Given the description of an element on the screen output the (x, y) to click on. 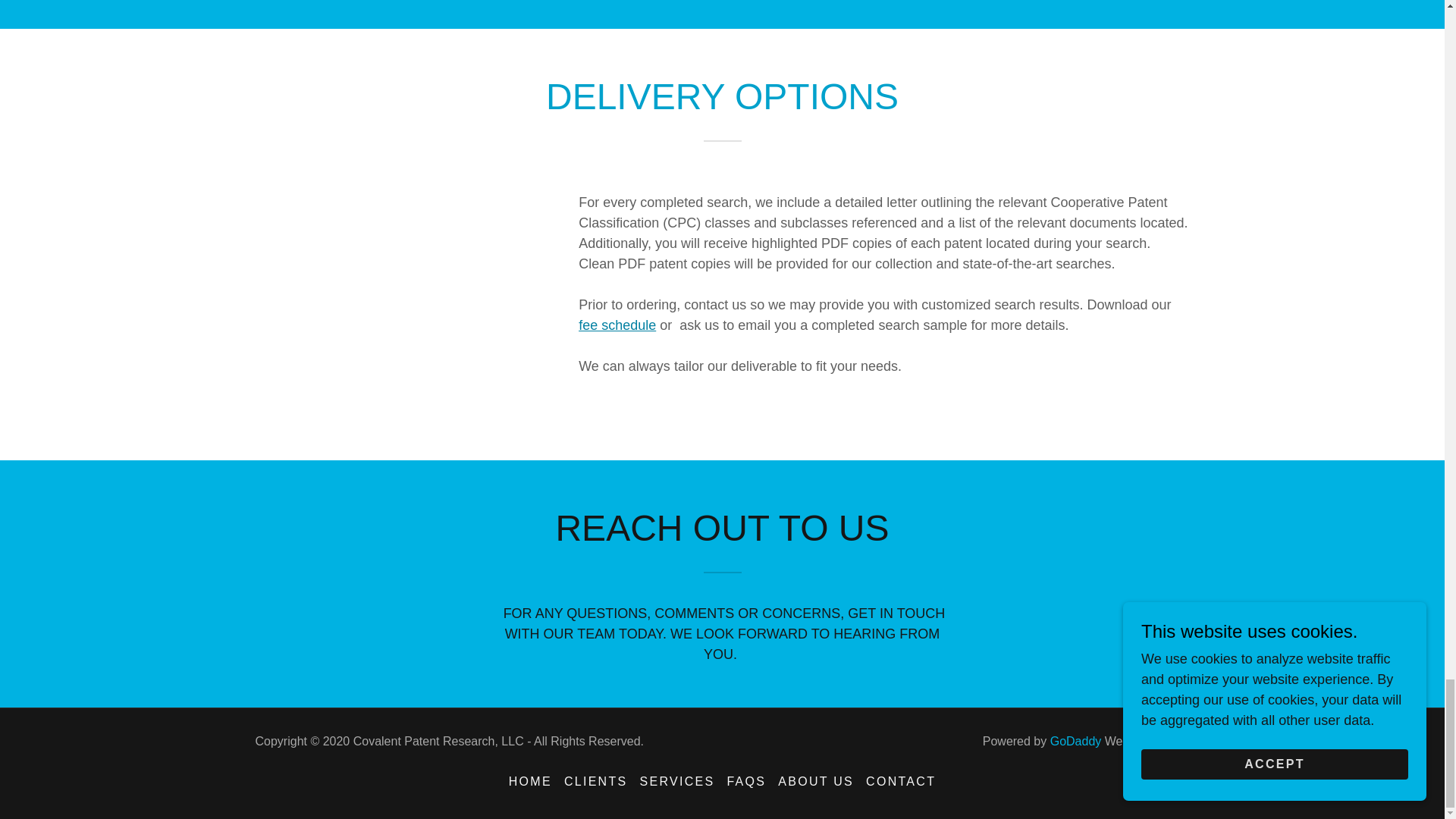
SERVICES (676, 781)
CLIENTS (595, 781)
ABOUT US (815, 781)
HOME (529, 781)
fee schedule (617, 324)
GoDaddy (1075, 740)
CONTACT (901, 781)
FAQS (745, 781)
